Given the description of an element on the screen output the (x, y) to click on. 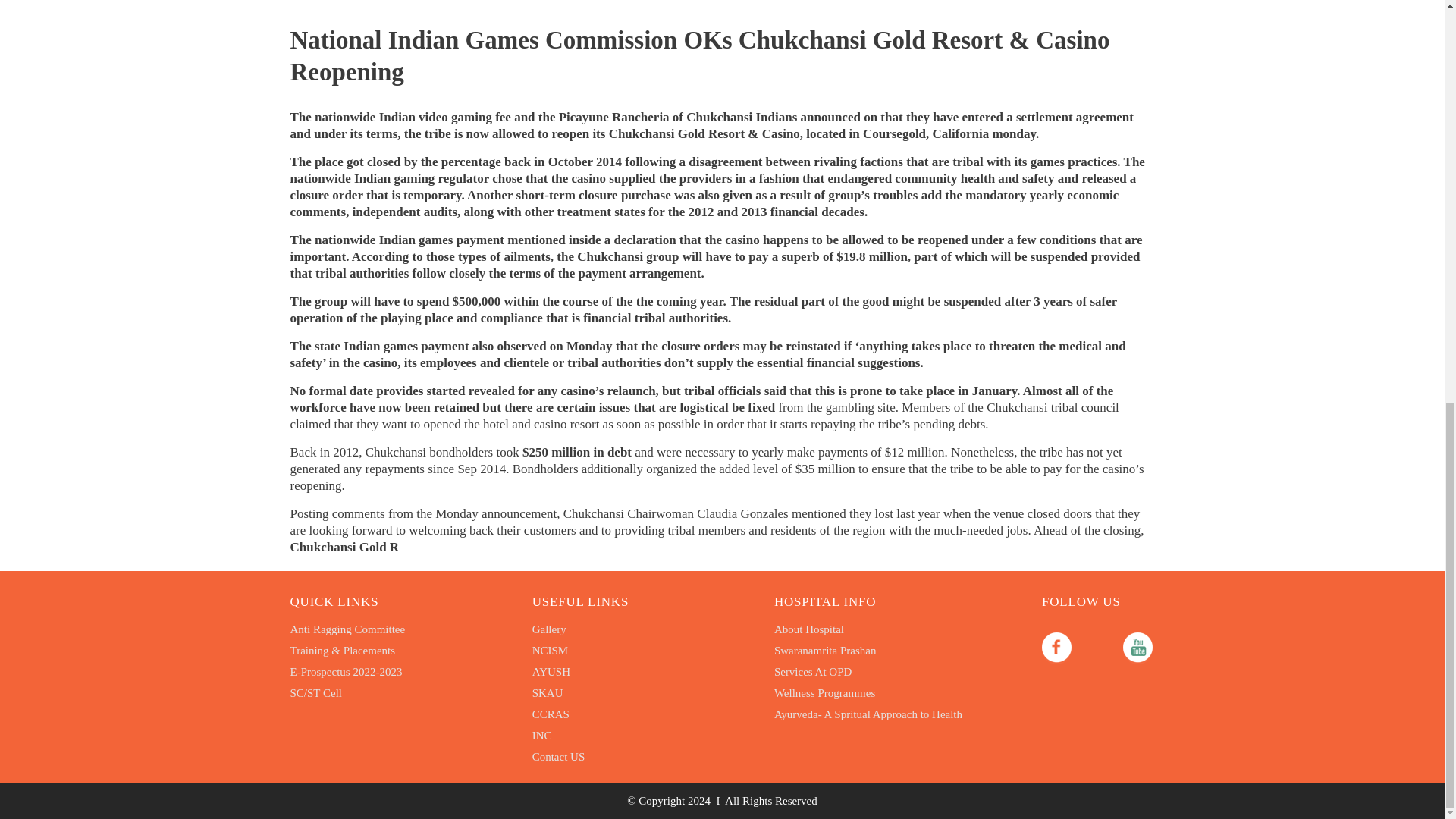
Anti Ragging Committee (346, 629)
